Given the description of an element on the screen output the (x, y) to click on. 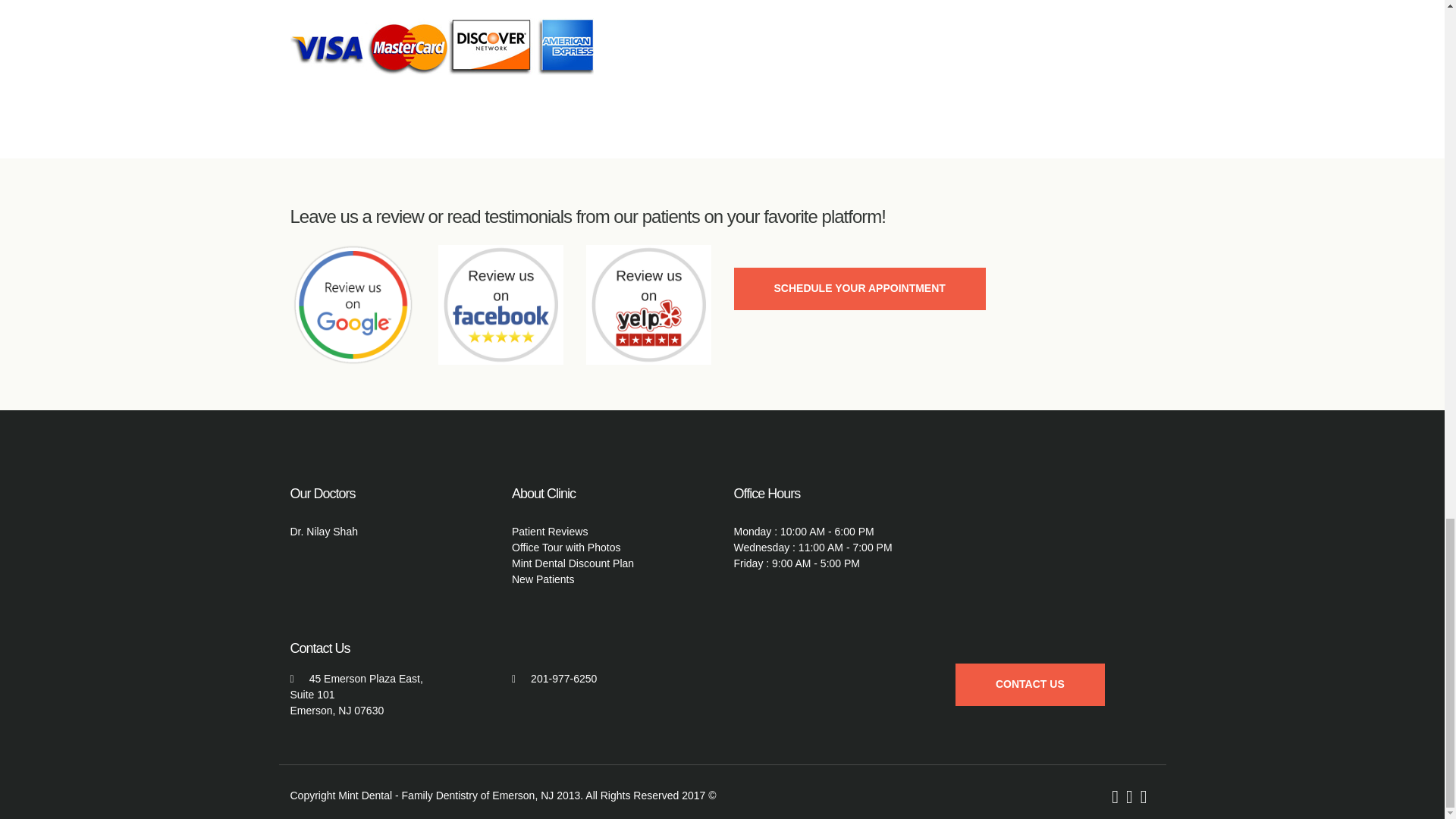
Dr. Nilay Shah (322, 531)
Mint Dental Discount Plan (572, 563)
Office Tour with Photos (566, 547)
Patient Reviews (550, 531)
SCHEDULE YOUR APPOINTMENT (859, 288)
